Given the description of an element on the screen output the (x, y) to click on. 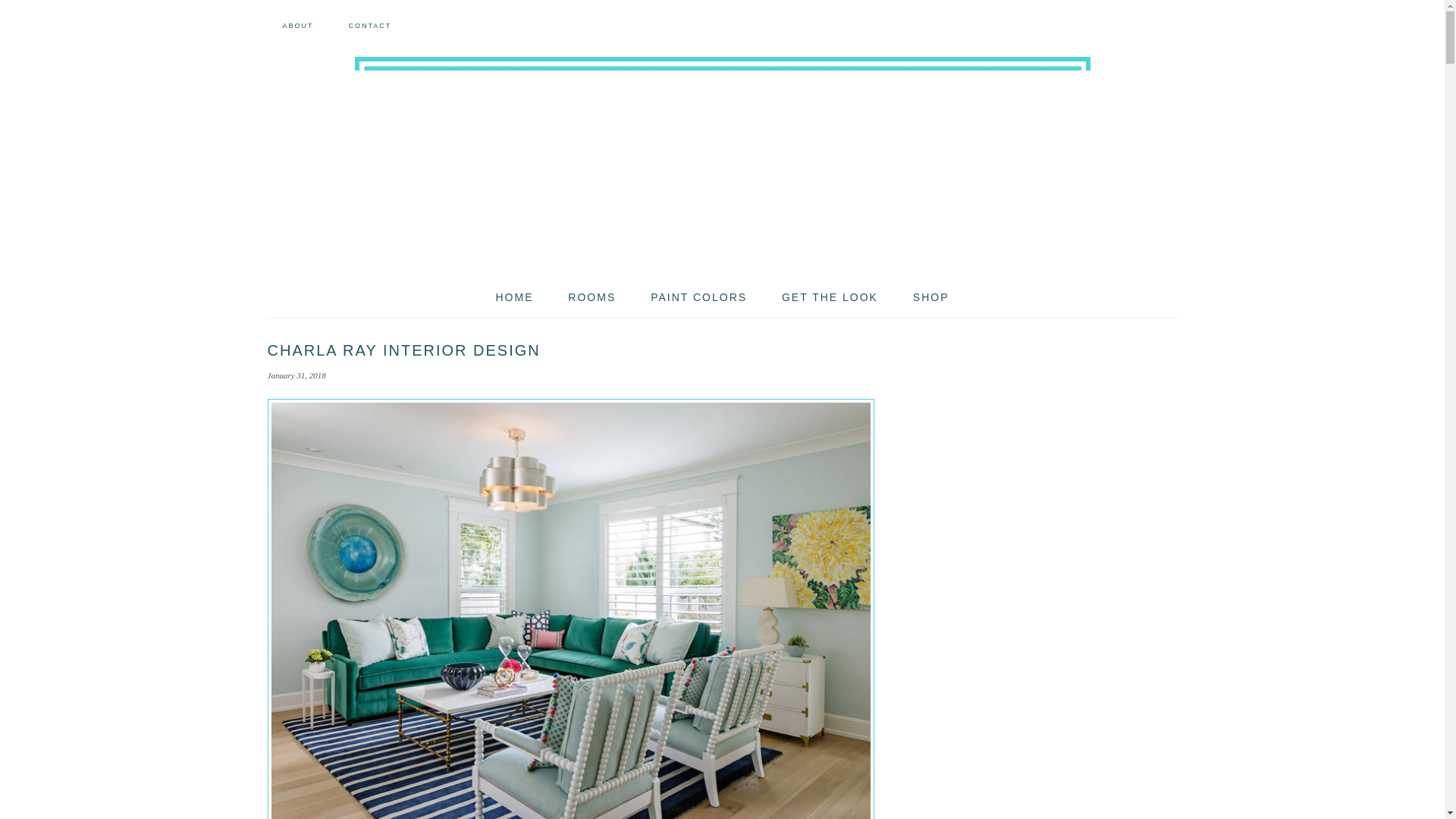
CONTACT (369, 26)
SHOP (930, 296)
GET THE LOOK (830, 296)
ABOUT (297, 26)
ROOMS (591, 296)
PAINT COLORS (697, 296)
HOME (514, 296)
